Given the description of an element on the screen output the (x, y) to click on. 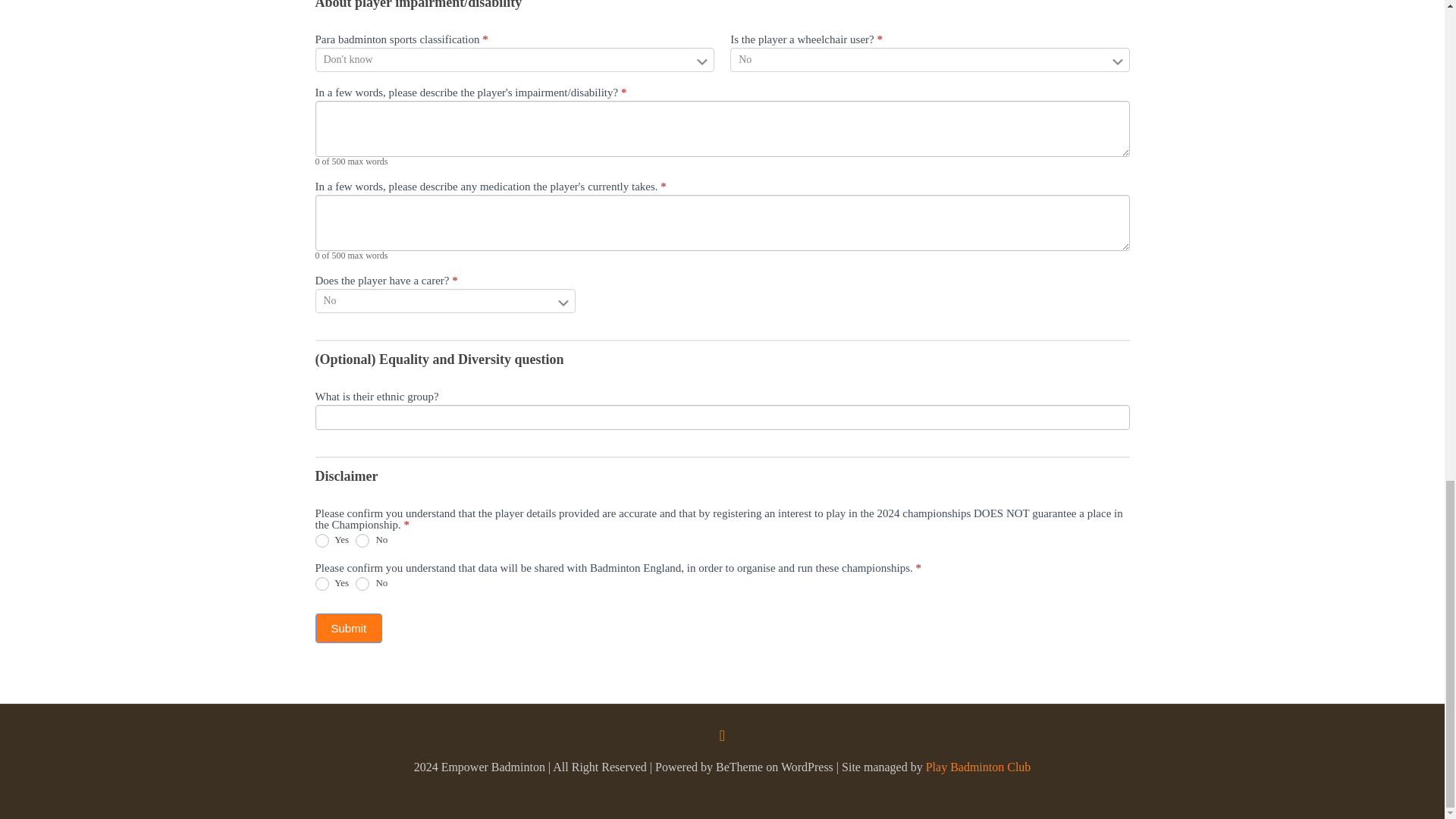
Play Badminton Club (978, 766)
Submit (348, 627)
